Given the description of an element on the screen output the (x, y) to click on. 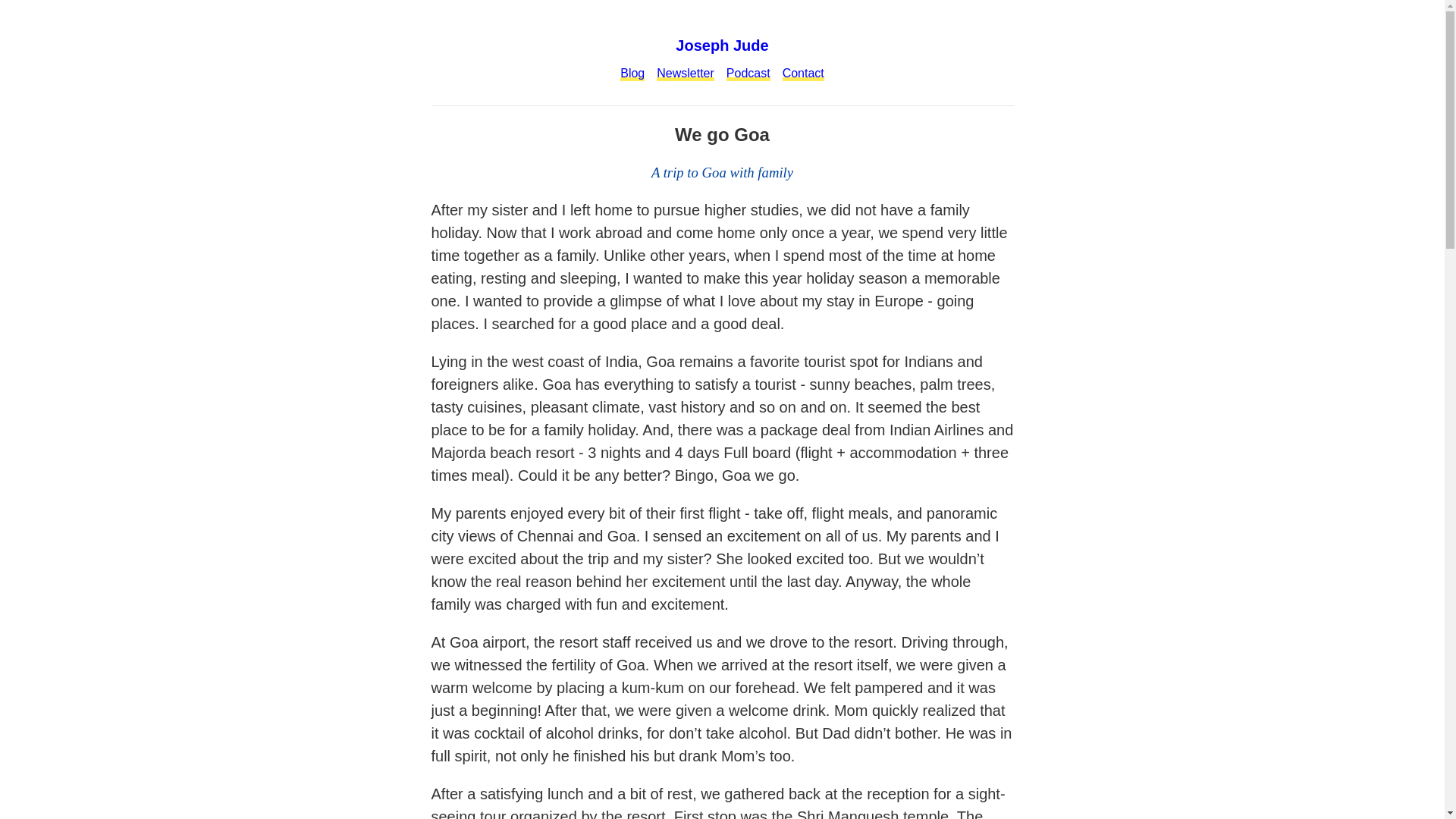
podcast (748, 73)
contact (803, 73)
click to go to homepage (721, 58)
subscribe (685, 73)
Contact (803, 73)
Newsletter (685, 73)
posts (632, 73)
Podcast (748, 73)
Blog (632, 73)
Joseph Jude (721, 58)
